Given the description of an element on the screen output the (x, y) to click on. 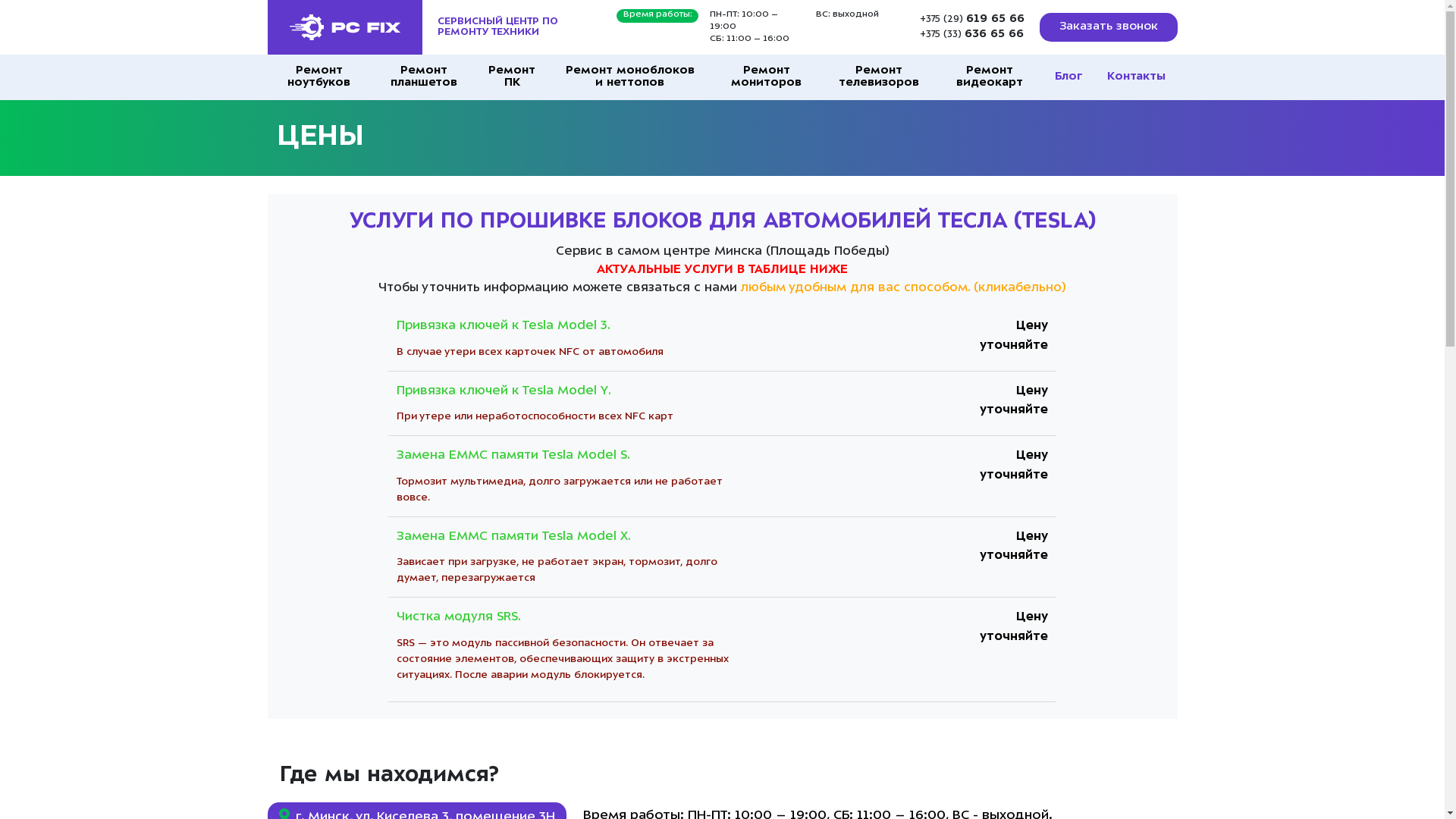
+375 (33) 636 65 66 Element type: text (971, 34)
+375 (29) 619 65 66 Element type: text (971, 19)
